Given the description of an element on the screen output the (x, y) to click on. 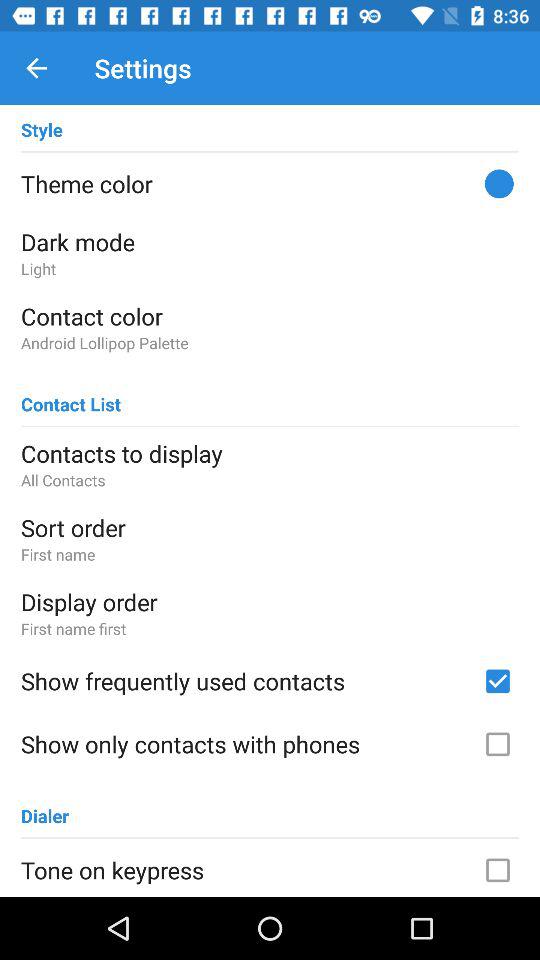
turn on the icon above sort order icon (270, 479)
